Given the description of an element on the screen output the (x, y) to click on. 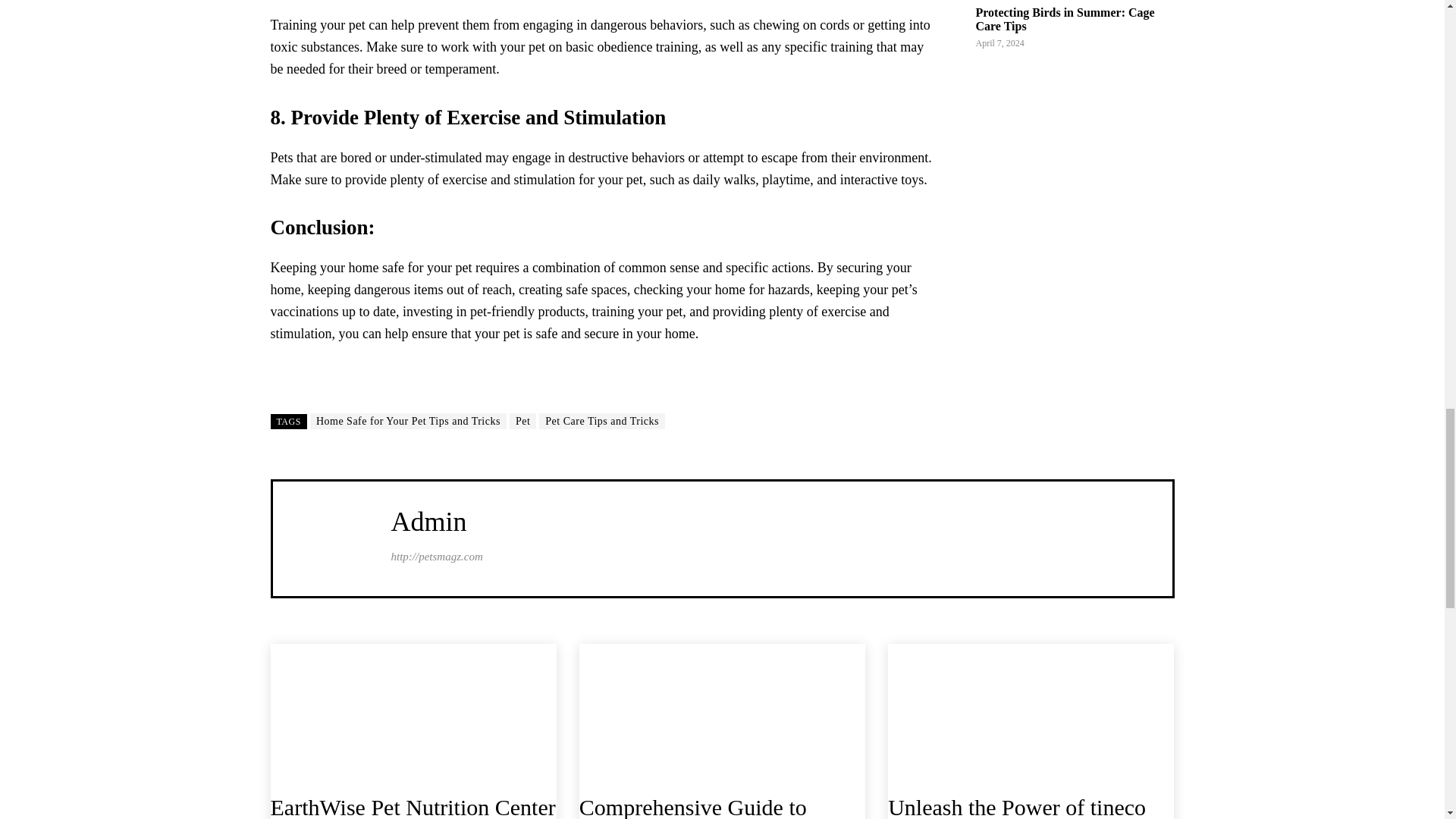
Home Safe for Your Pet Tips and Tricks (408, 421)
Pet (522, 421)
Pet Care Tips and Tricks (601, 421)
